Given the description of an element on the screen output the (x, y) to click on. 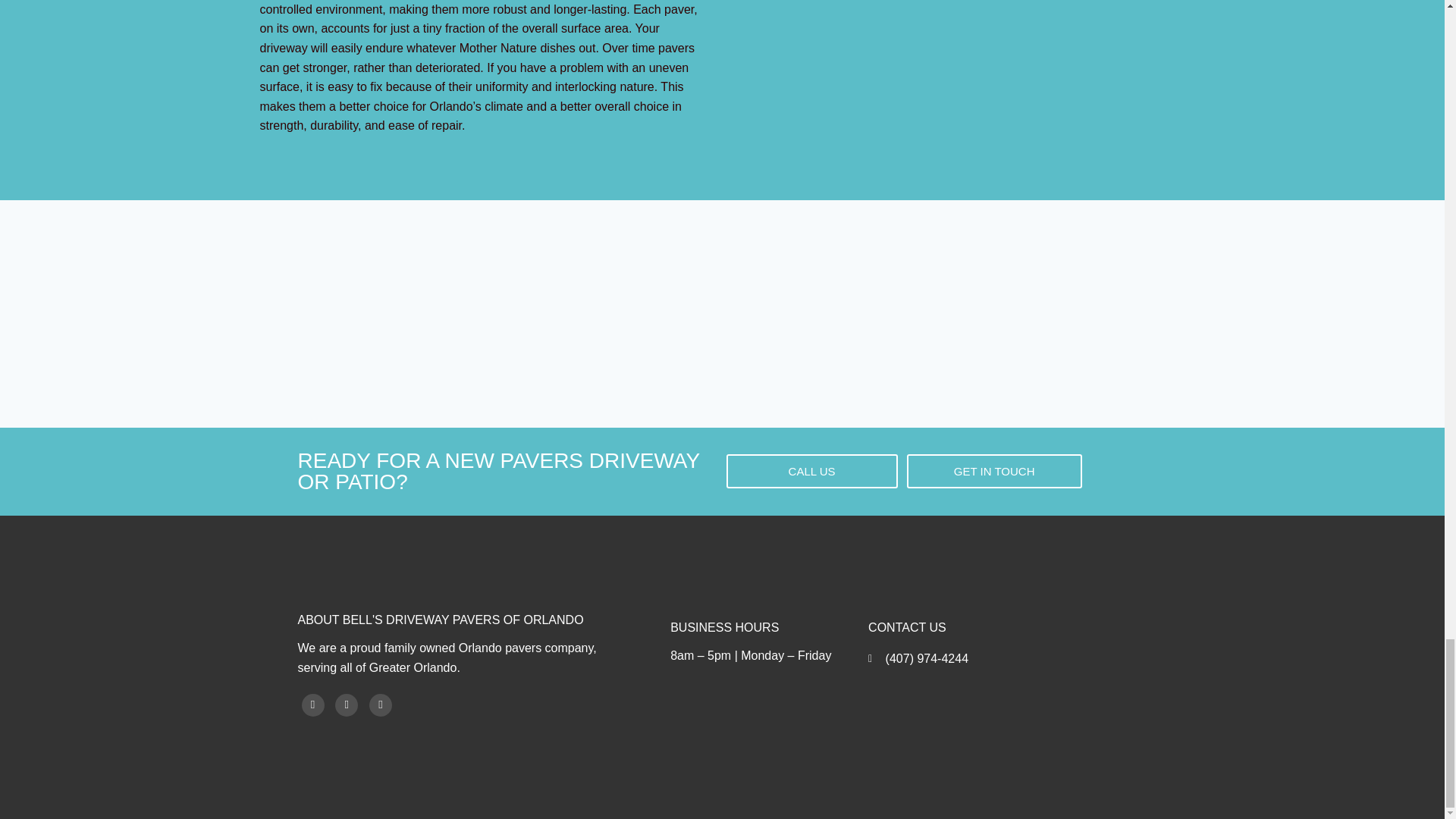
GET IN TOUCH (994, 471)
CALL US (812, 471)
